Given the description of an element on the screen output the (x, y) to click on. 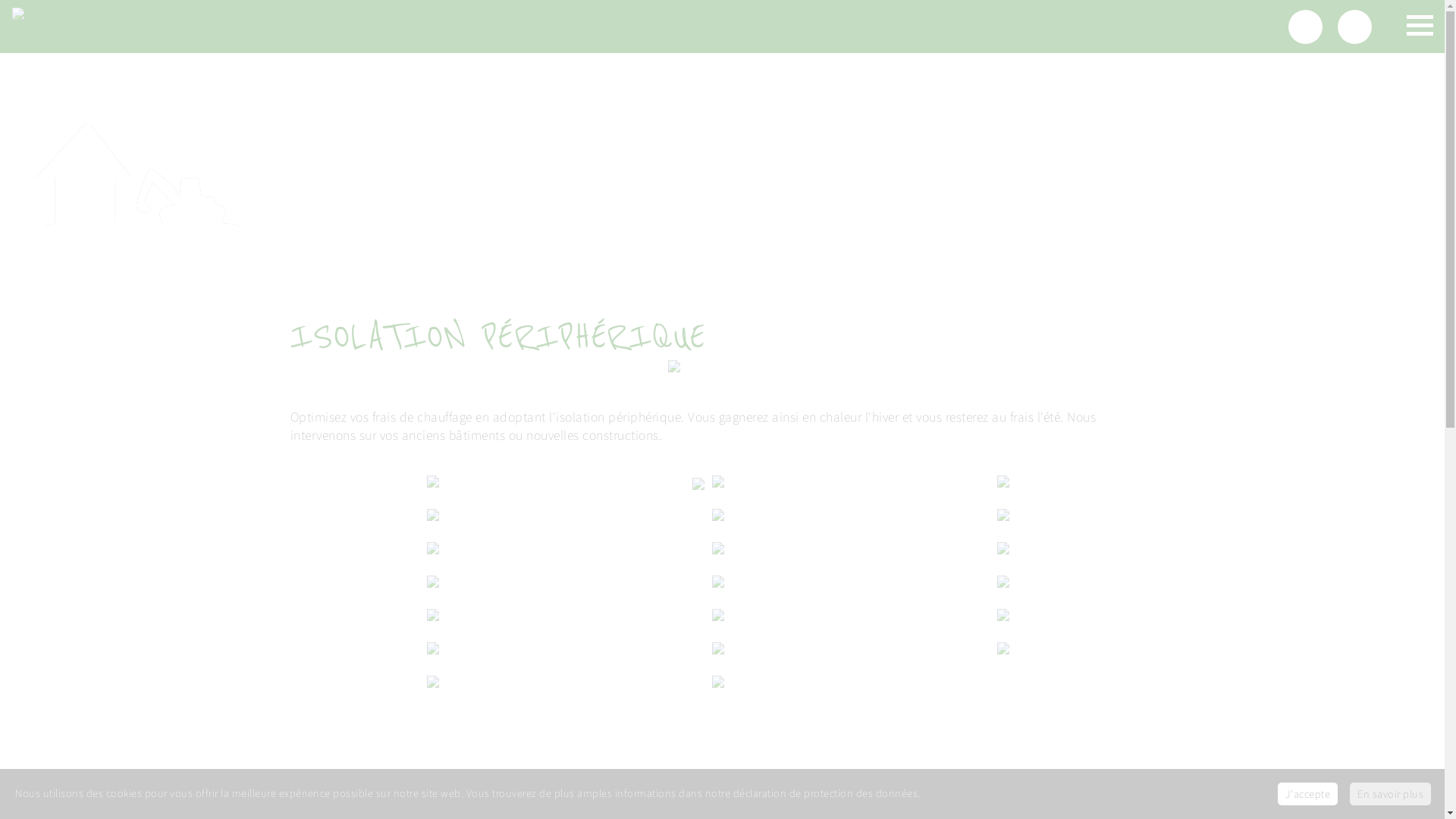
J'accepte Element type: text (1307, 793)
En savoir plus Element type: text (1389, 793)
